Given the description of an element on the screen output the (x, y) to click on. 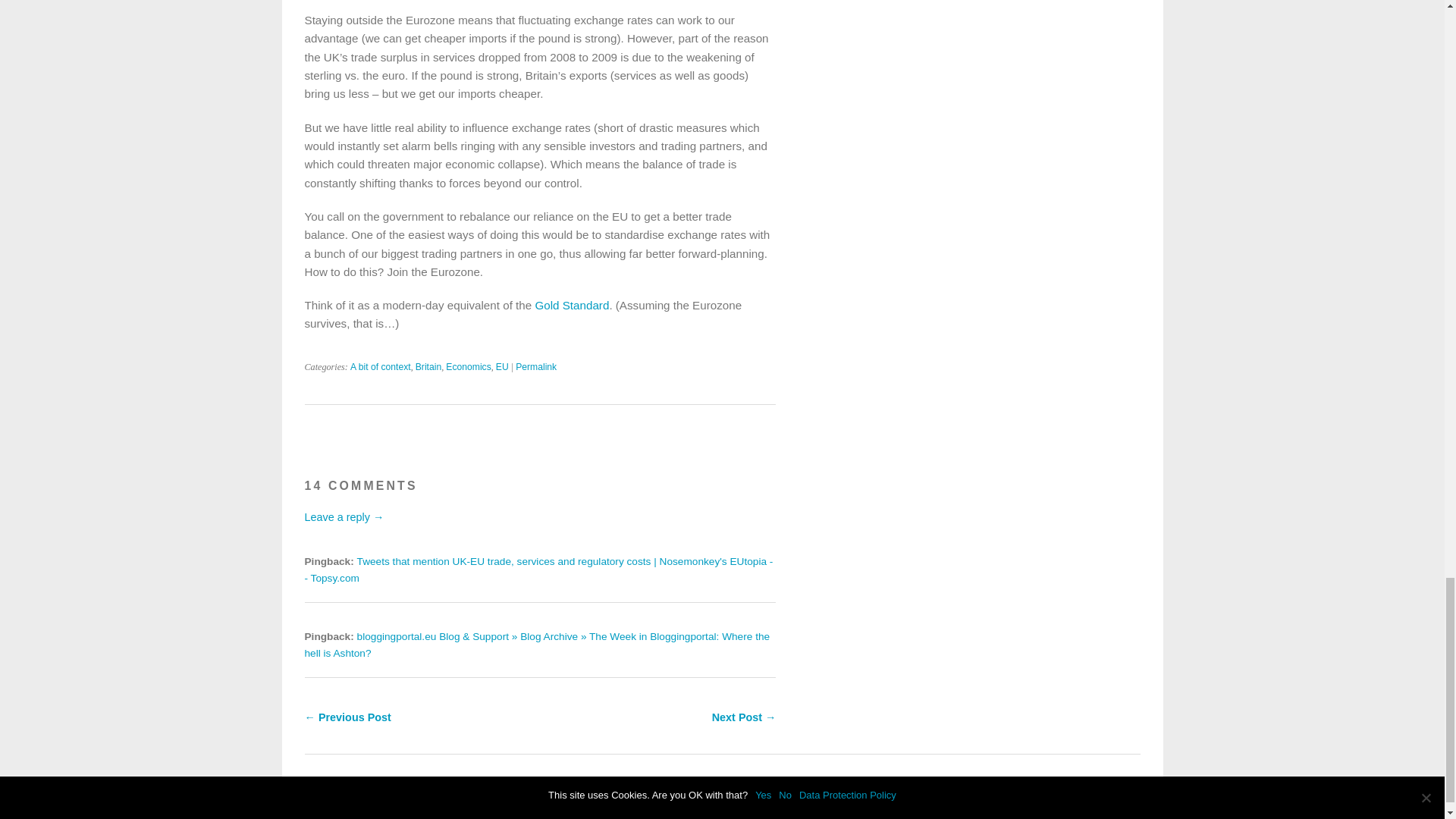
Gold Standard (571, 305)
Britain (427, 366)
Permalink (535, 366)
EU (502, 366)
A bit of context (380, 366)
Economics (467, 366)
